Given the description of an element on the screen output the (x, y) to click on. 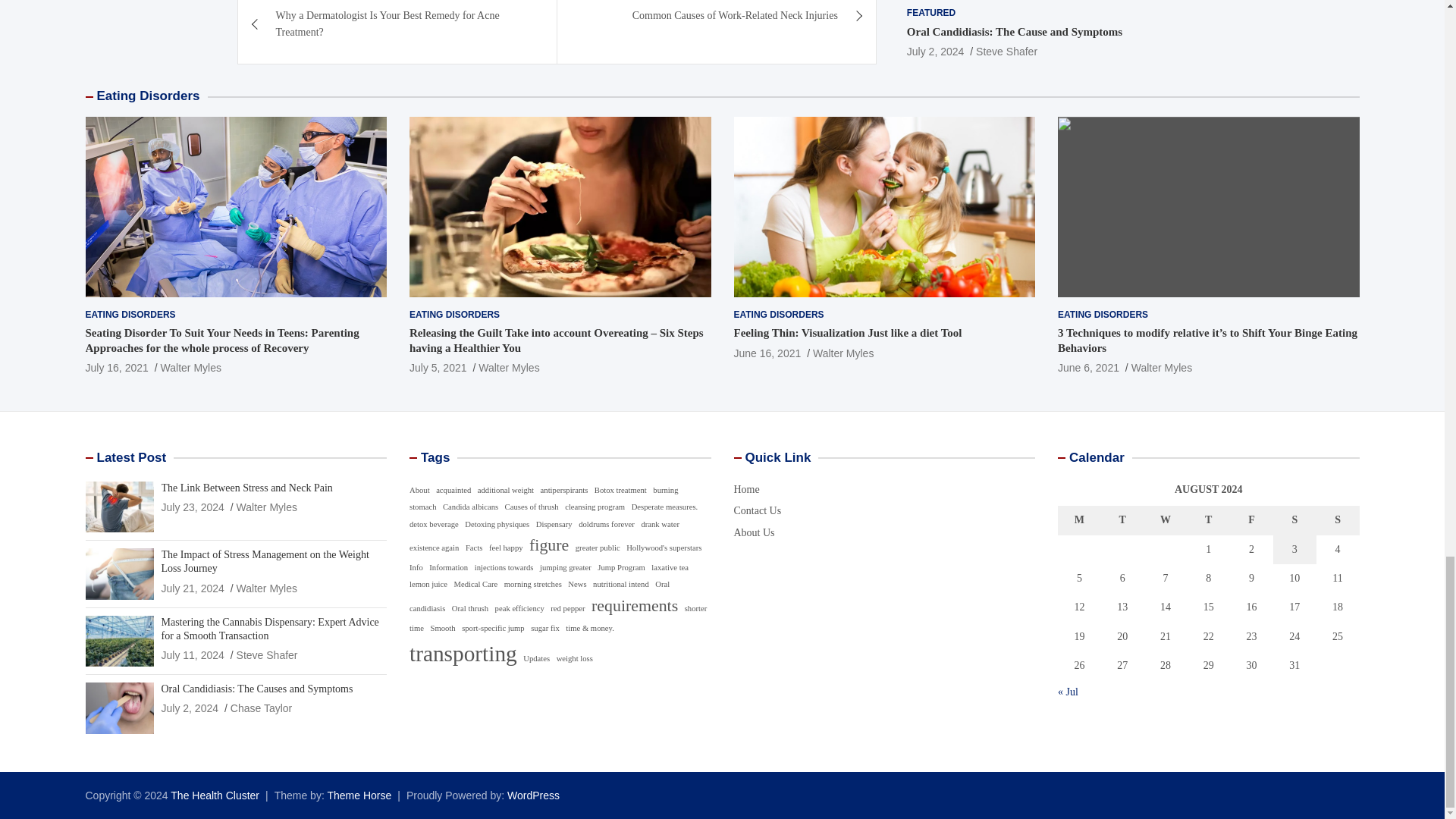
The Link Between Stress and Neck Pain (192, 507)
Oral Candidiasis: The Causes and Symptoms (189, 707)
The Impact of Stress Management on the Weight Loss Journey (192, 588)
Feeling Thin: Visualization Just like a diet Tool (767, 353)
Common Causes of Work-Related Neck Injuries (716, 23)
Why a Dermatologist Is Your Best Remedy for Acne Treatment? (397, 32)
